Given the description of an element on the screen output the (x, y) to click on. 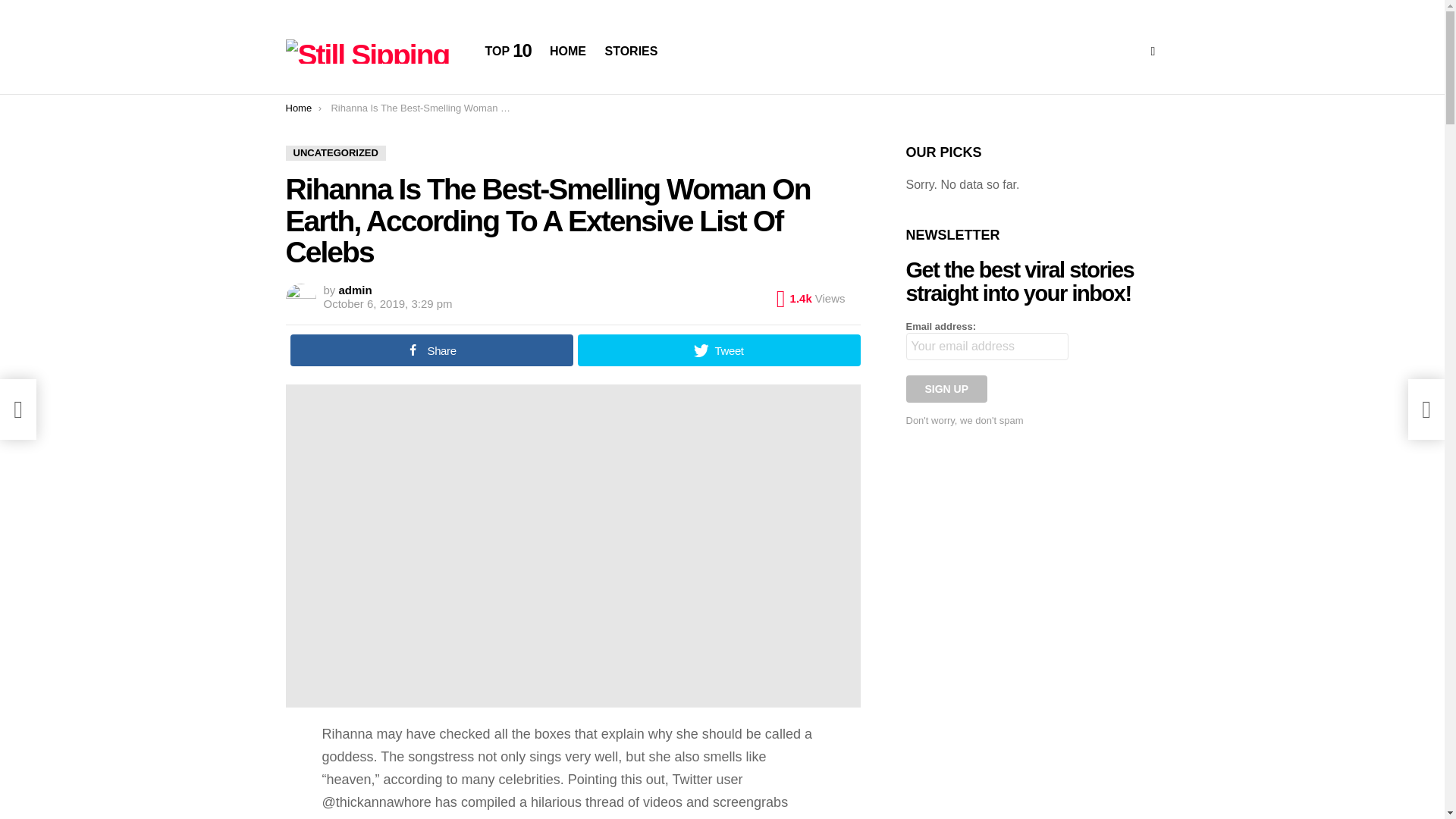
Tweet (719, 350)
TOP 10 (507, 51)
Share (430, 350)
STORIES (630, 51)
admin (355, 289)
UNCATEGORIZED (335, 152)
Sign up (946, 388)
Posts by admin (355, 289)
Home (298, 107)
HOME (567, 51)
